Given the description of an element on the screen output the (x, y) to click on. 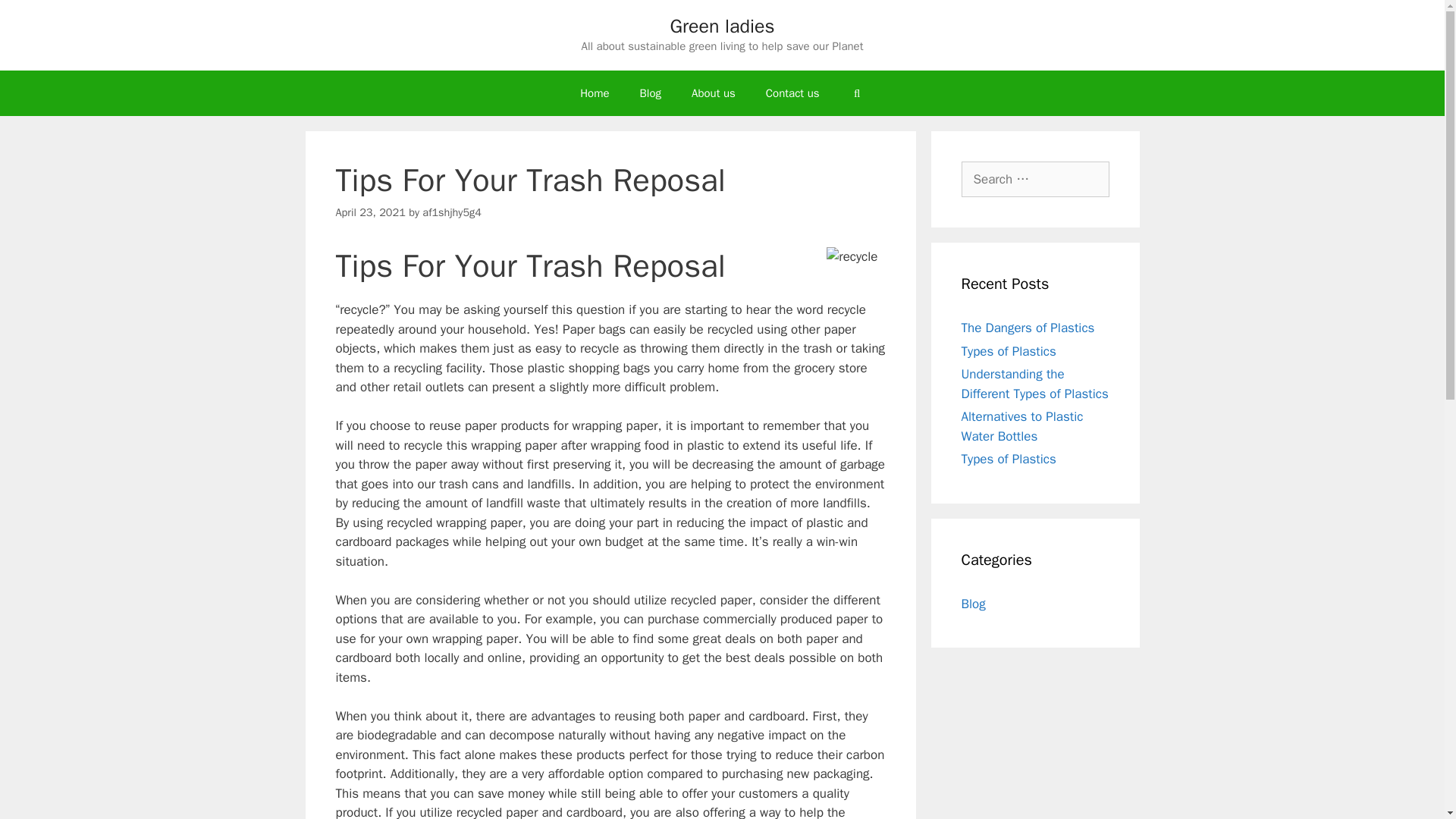
Blog (972, 603)
Alternatives to Plastic Water Bottles (1021, 426)
Types of Plastics (1008, 350)
Search for: (1034, 178)
Search (35, 18)
Home (594, 92)
About us (714, 92)
Green ladies (721, 25)
Understanding the Different Types of Plastics (1034, 384)
Contact us (792, 92)
View all posts by af1shjhy5g4 (451, 212)
The Dangers of Plastics (1027, 327)
Blog (650, 92)
af1shjhy5g4 (451, 212)
Types of Plastics (1008, 458)
